Given the description of an element on the screen output the (x, y) to click on. 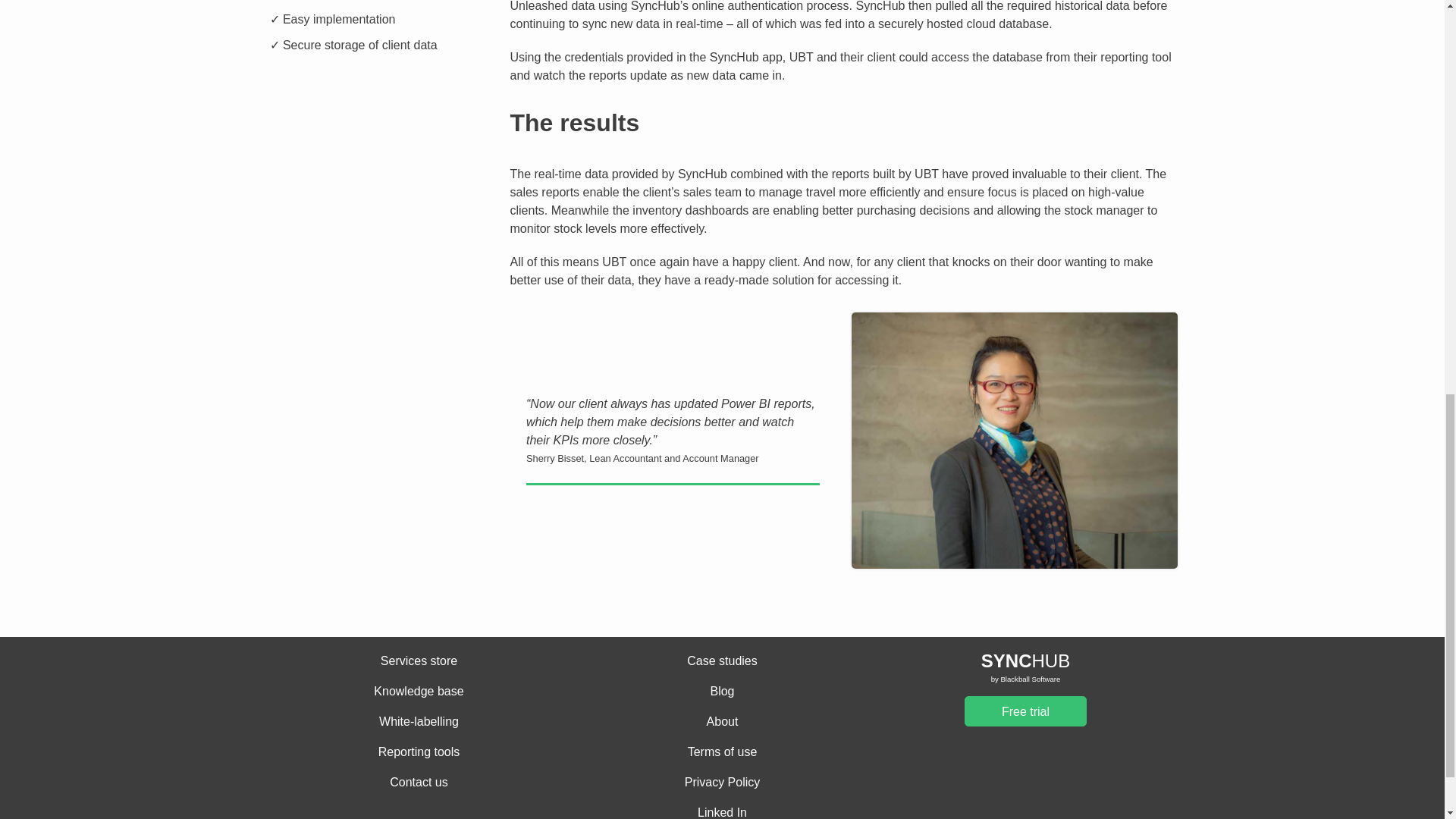
Knowledge base (418, 691)
Case studies (721, 660)
by Blackball Software (1024, 679)
Products (721, 660)
About (721, 721)
Privacy Policy (721, 782)
Reporting tools (418, 751)
Articles and insights for data driven businesses (721, 691)
Blog (721, 691)
Terms of use (721, 751)
Services store (418, 660)
White-labelling (418, 721)
Free trial (1024, 711)
Linked In (721, 811)
Contact us (418, 782)
